Given the description of an element on the screen output the (x, y) to click on. 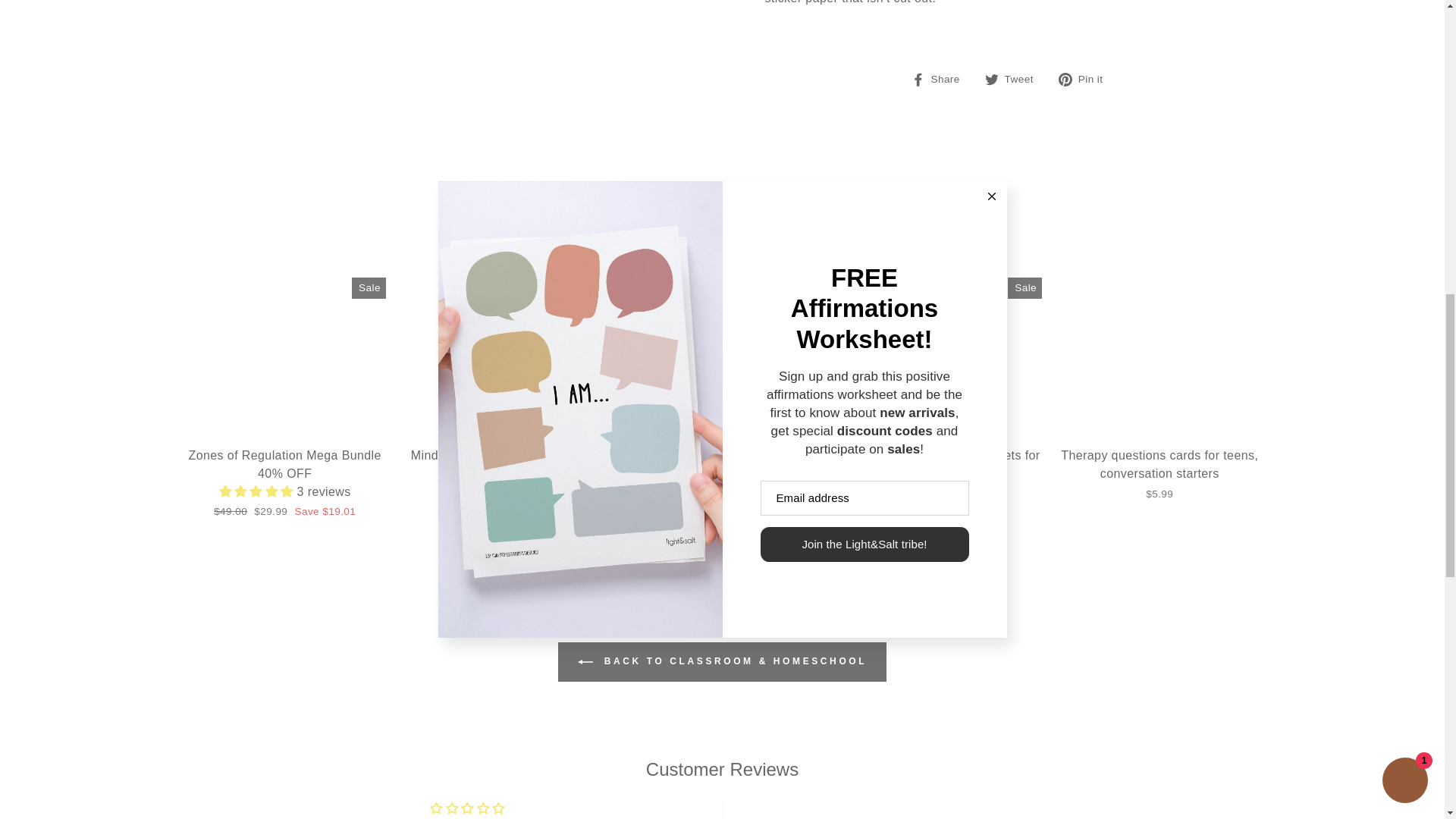
Tweet on Twitter (1015, 78)
Pin on Pinterest (1085, 78)
Share on Facebook (941, 78)
